Given the description of an element on the screen output the (x, y) to click on. 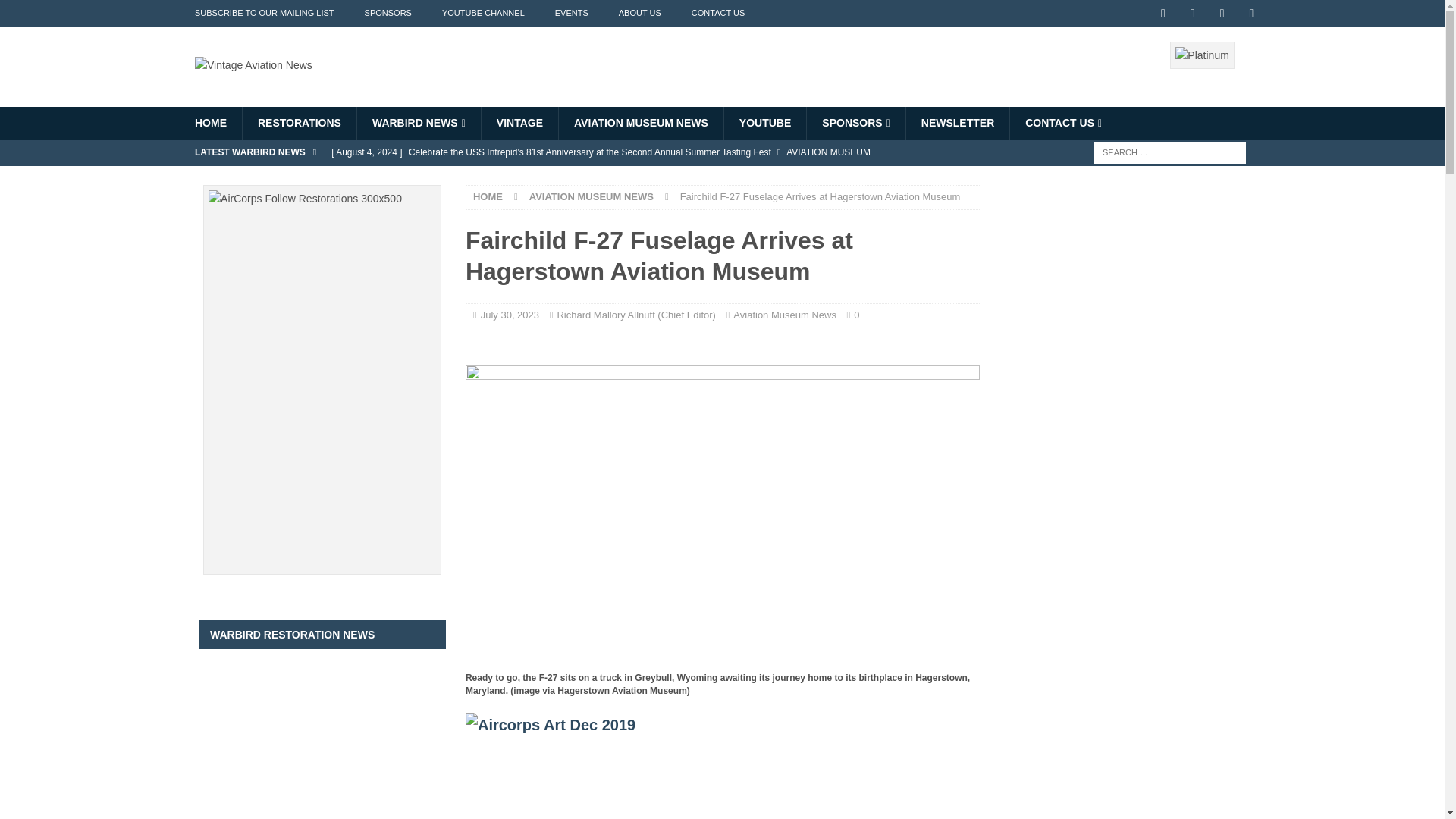
EVENTS (572, 13)
RESTORATIONS (298, 122)
CONTACT US (718, 13)
YOUTUBE CHANNEL (483, 13)
CONTACT US (1062, 122)
ABOUT US (640, 13)
SUBSCRIBE TO OUR MAILING LIST (264, 13)
WARBIRD NEWS (418, 122)
YOUTUBE (764, 122)
AVIATION MUSEUM NEWS (640, 122)
